Given the description of an element on the screen output the (x, y) to click on. 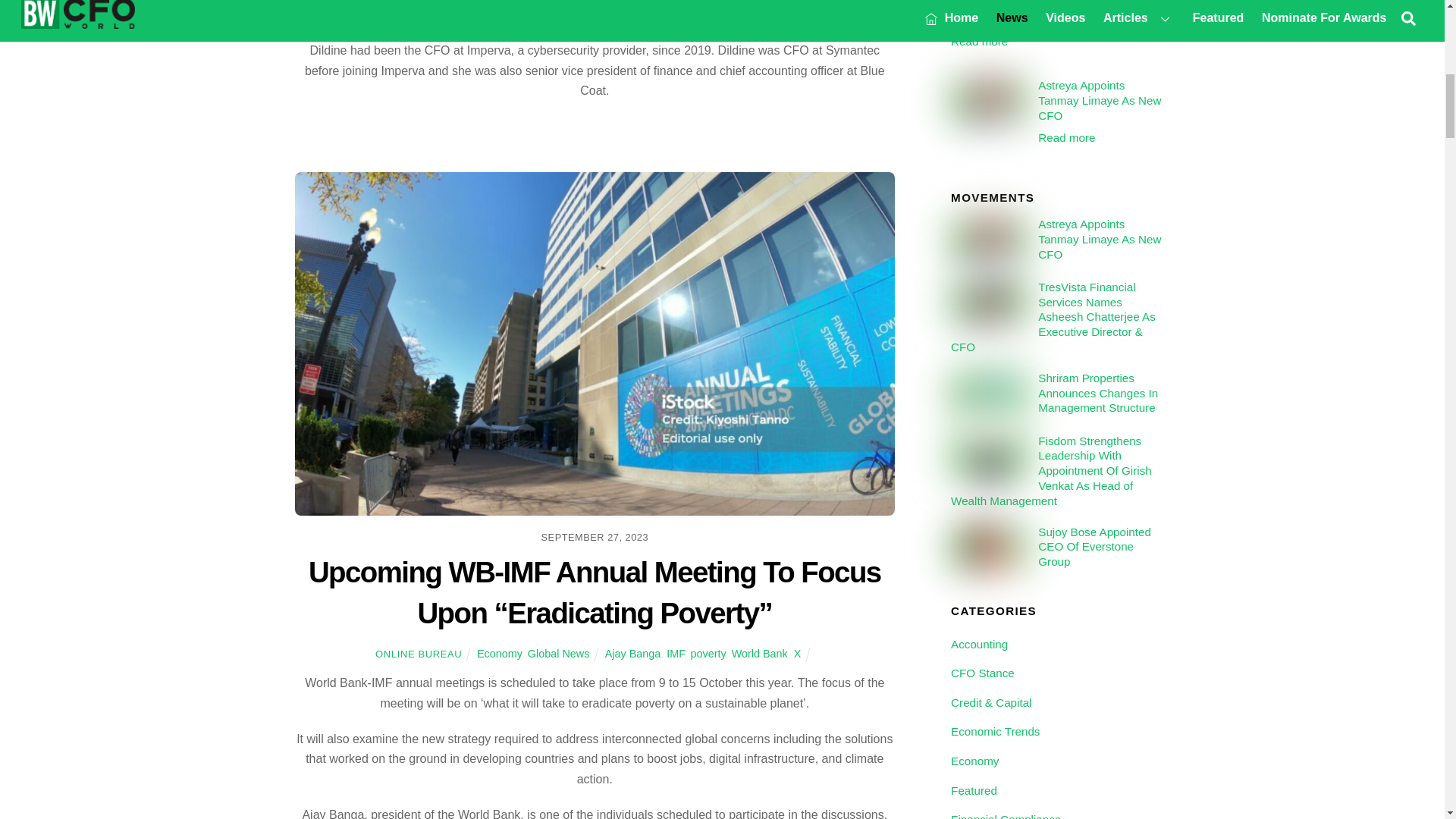
Ajay Banga (633, 653)
Global News (558, 653)
poverty (707, 653)
Economy (499, 653)
IMF (675, 653)
World Bank (759, 653)
ONLINE BUREAU (418, 654)
